Given the description of an element on the screen output the (x, y) to click on. 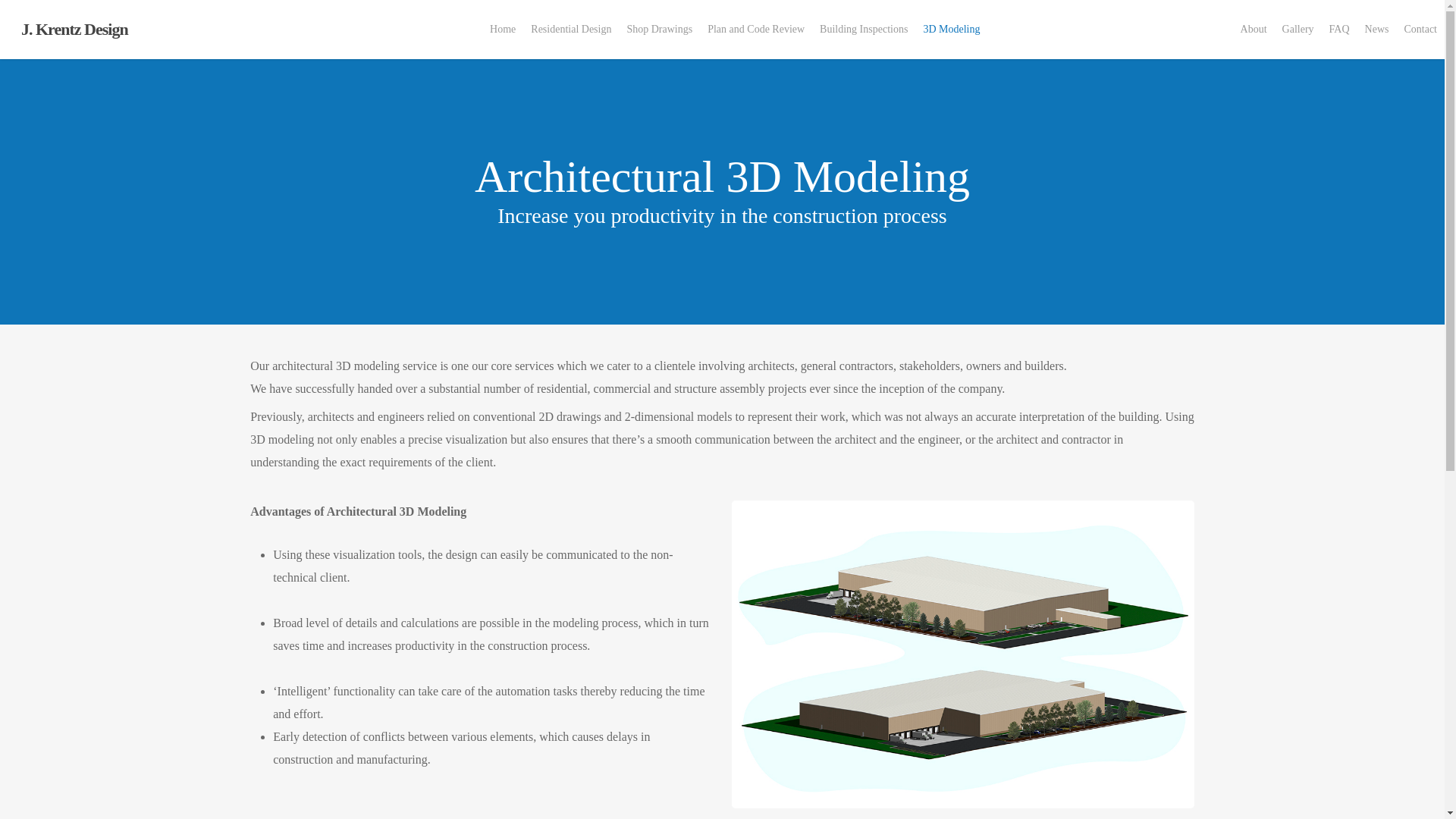
News (1376, 29)
Shop Drawings (659, 29)
Residential Design (570, 29)
Plan and Code Review (756, 29)
Building Inspections (842, 682)
3D Modeling (842, 712)
Building Inspections (863, 29)
FAQ (1339, 29)
3D Modeling (951, 29)
Plan and Code Review (842, 653)
About (1254, 29)
Shop Drawings (842, 625)
Gallery (1298, 29)
Residential Design (842, 596)
J. Krentz Design (74, 29)
